Given the description of an element on the screen output the (x, y) to click on. 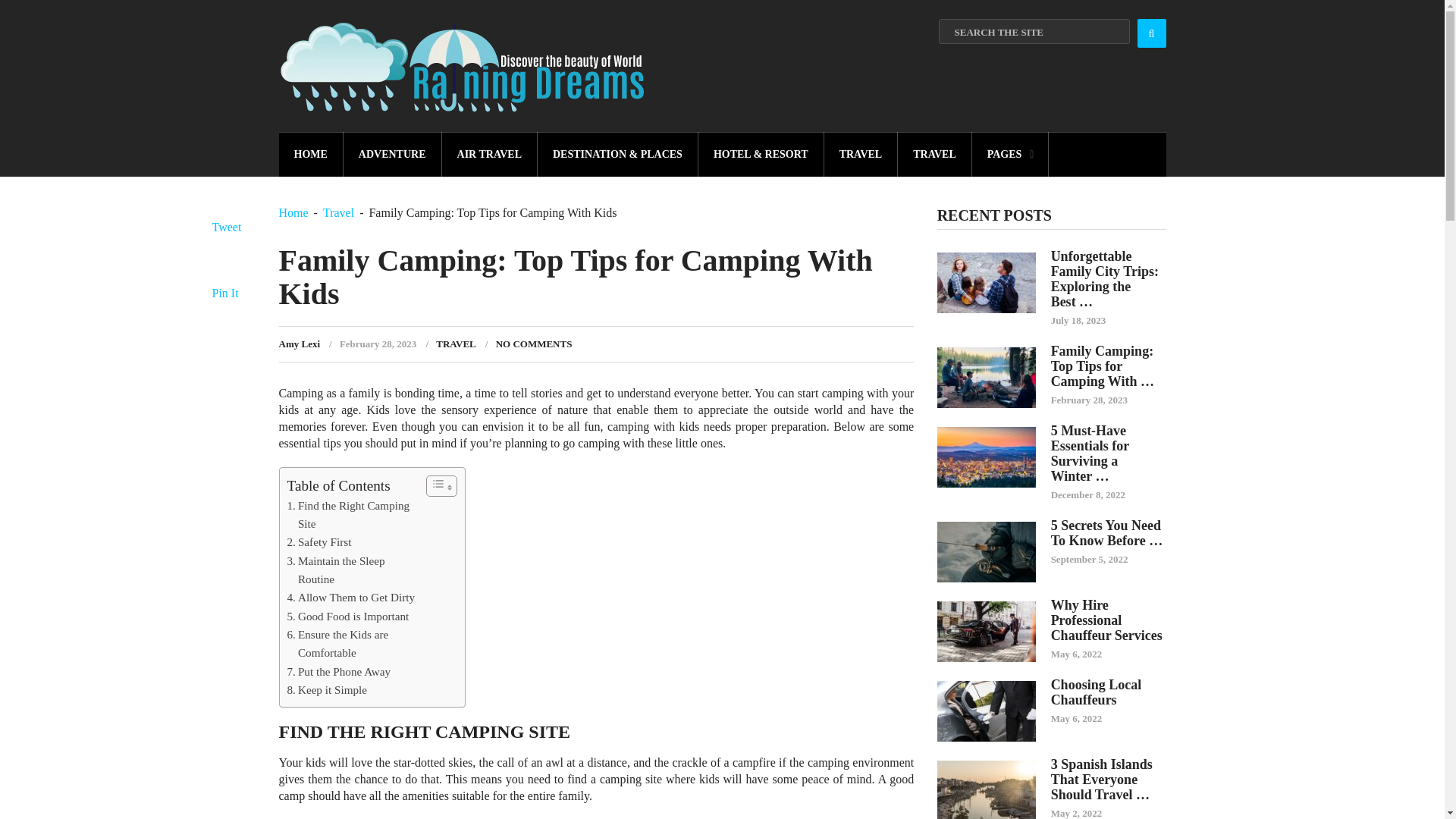
Amy Lexi (299, 343)
HOME (311, 153)
Ensure the Kids are Comfortable (351, 643)
Pin It (225, 292)
Good Food is Important (347, 616)
Find the Right Camping Site (351, 514)
Good Food is Important (347, 616)
Safety First (318, 542)
Ensure the Kids are Comfortable (351, 643)
Put the Phone Away (338, 671)
NO COMMENTS (534, 343)
Travel (338, 212)
TRAVEL (935, 153)
Safety First (318, 542)
Posts by Amy Lexi (299, 343)
